Given the description of an element on the screen output the (x, y) to click on. 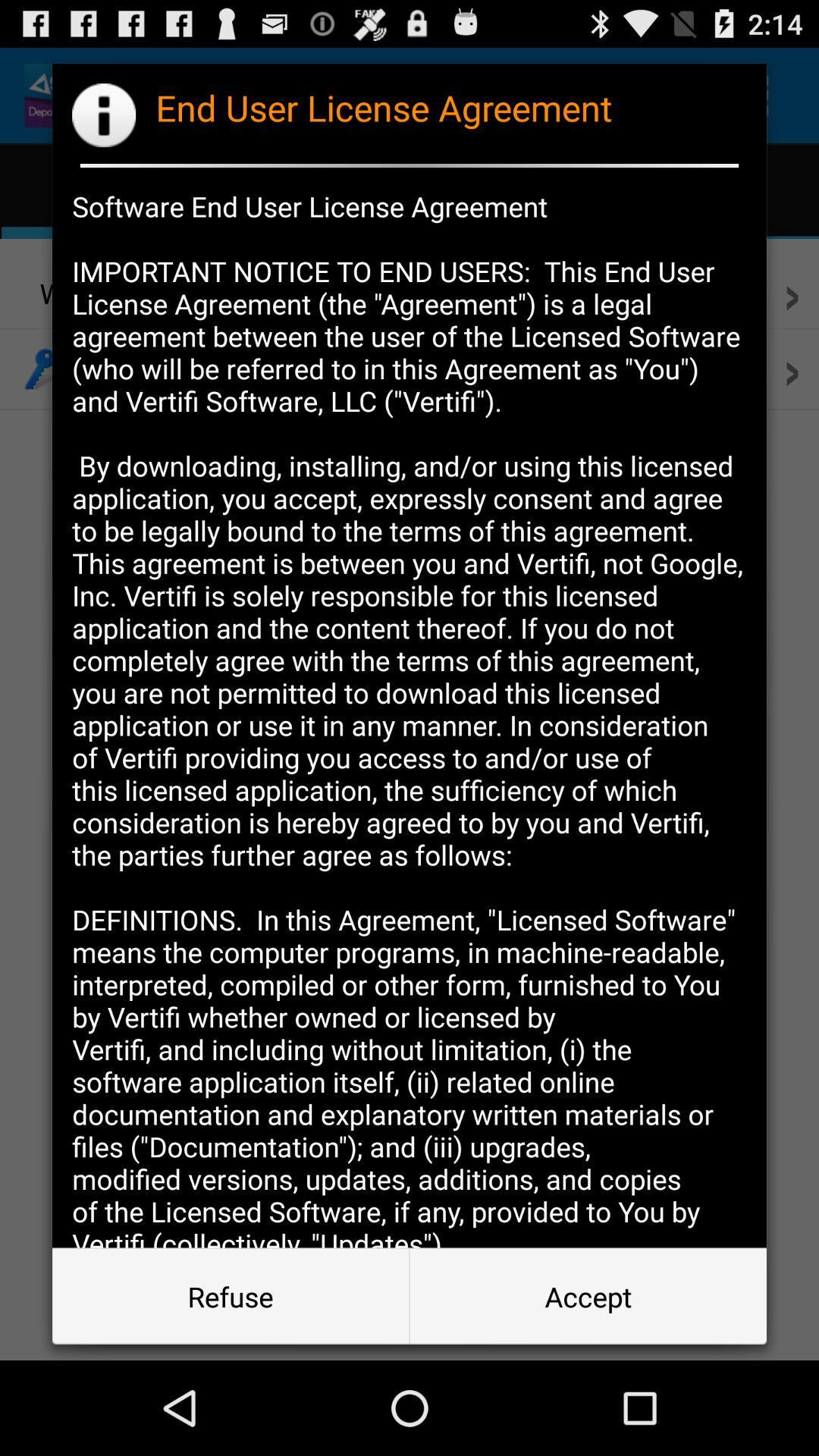
click refuse icon (230, 1296)
